Given the description of an element on the screen output the (x, y) to click on. 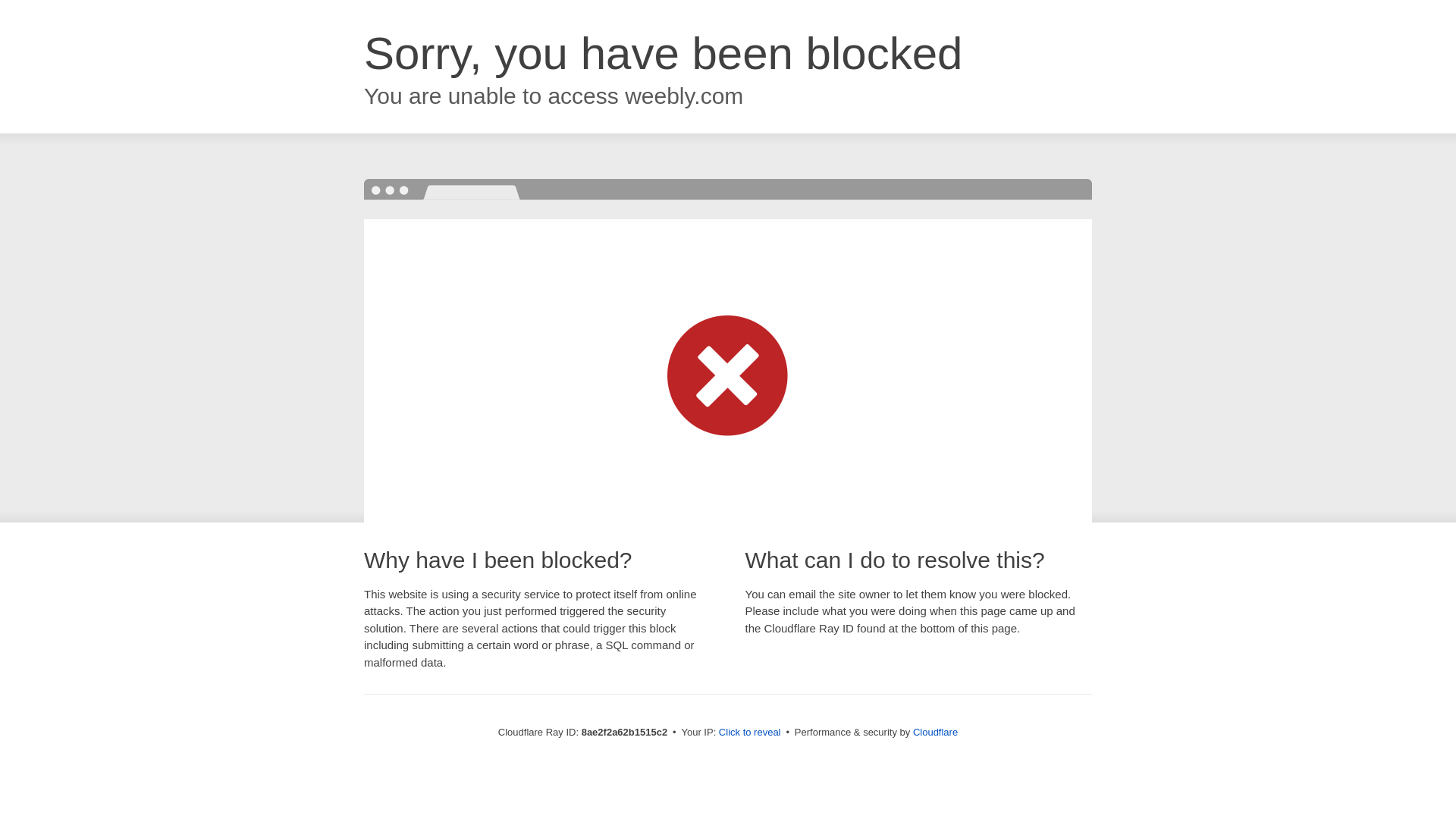
Cloudflare (935, 731)
Click to reveal (749, 732)
